Given the description of an element on the screen output the (x, y) to click on. 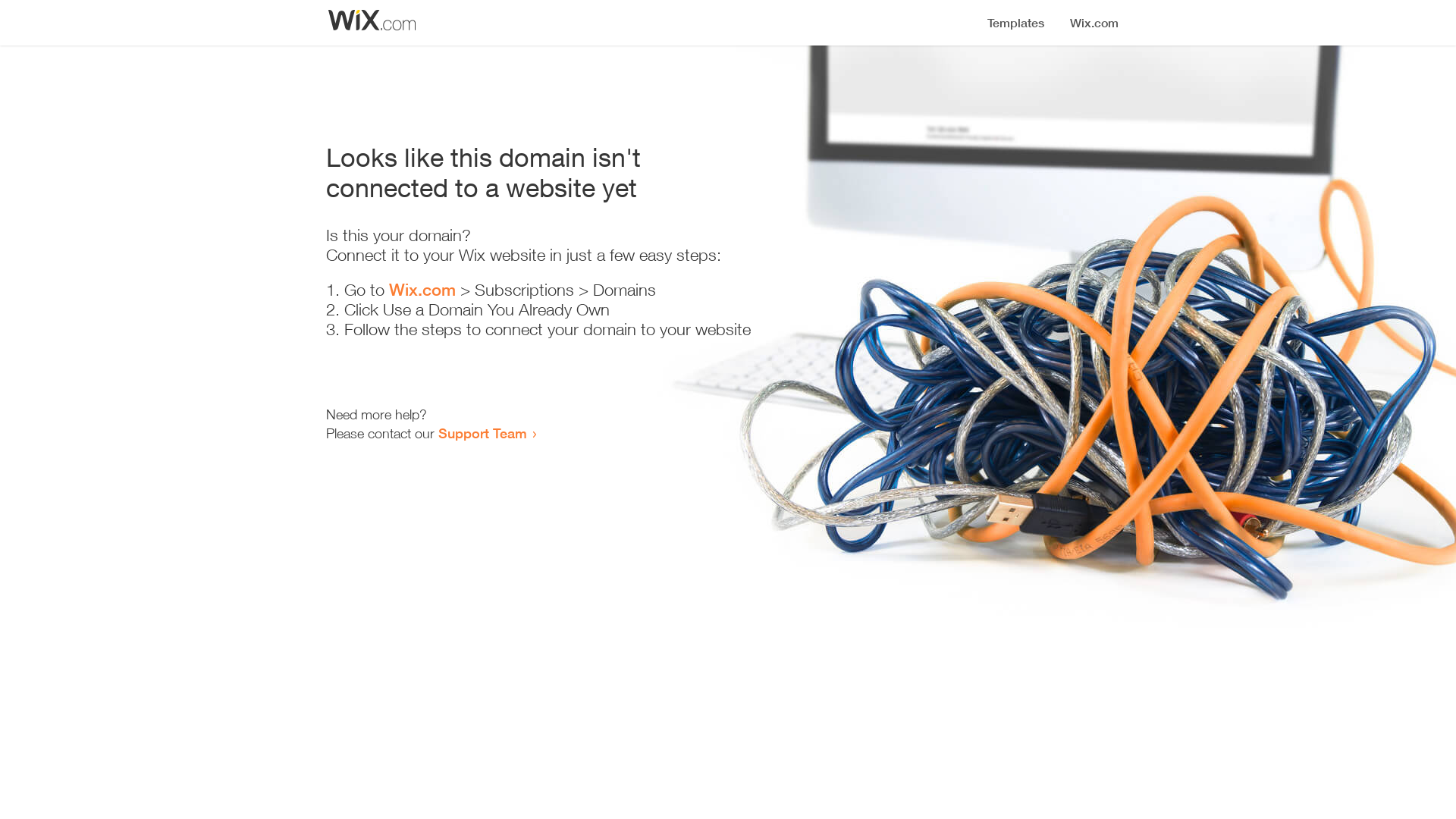
Support Team Element type: text (482, 432)
Wix.com Element type: text (422, 289)
